Given the description of an element on the screen output the (x, y) to click on. 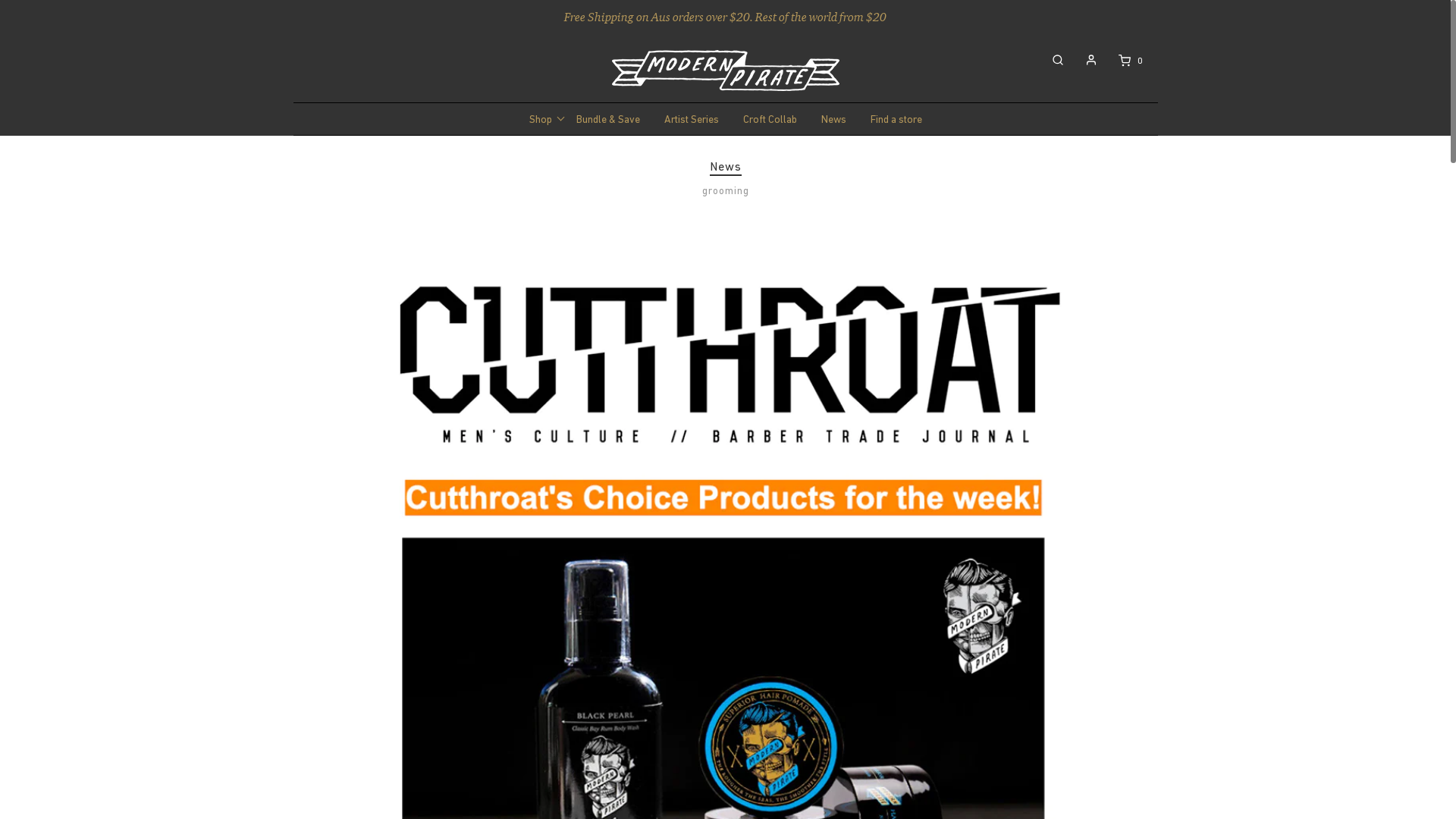
Search Element type: hover (1049, 59)
Shop Element type: text (536, 118)
0 Element type: text (1117, 60)
Log in Element type: hover (1082, 59)
Search Element type: hover (1433, 10)
Croft Collab Element type: text (766, 118)
News Element type: text (830, 118)
Bundle & Save Element type: text (604, 118)
Artist Series Element type: text (687, 118)
Find a store Element type: text (892, 118)
